Given the description of an element on the screen output the (x, y) to click on. 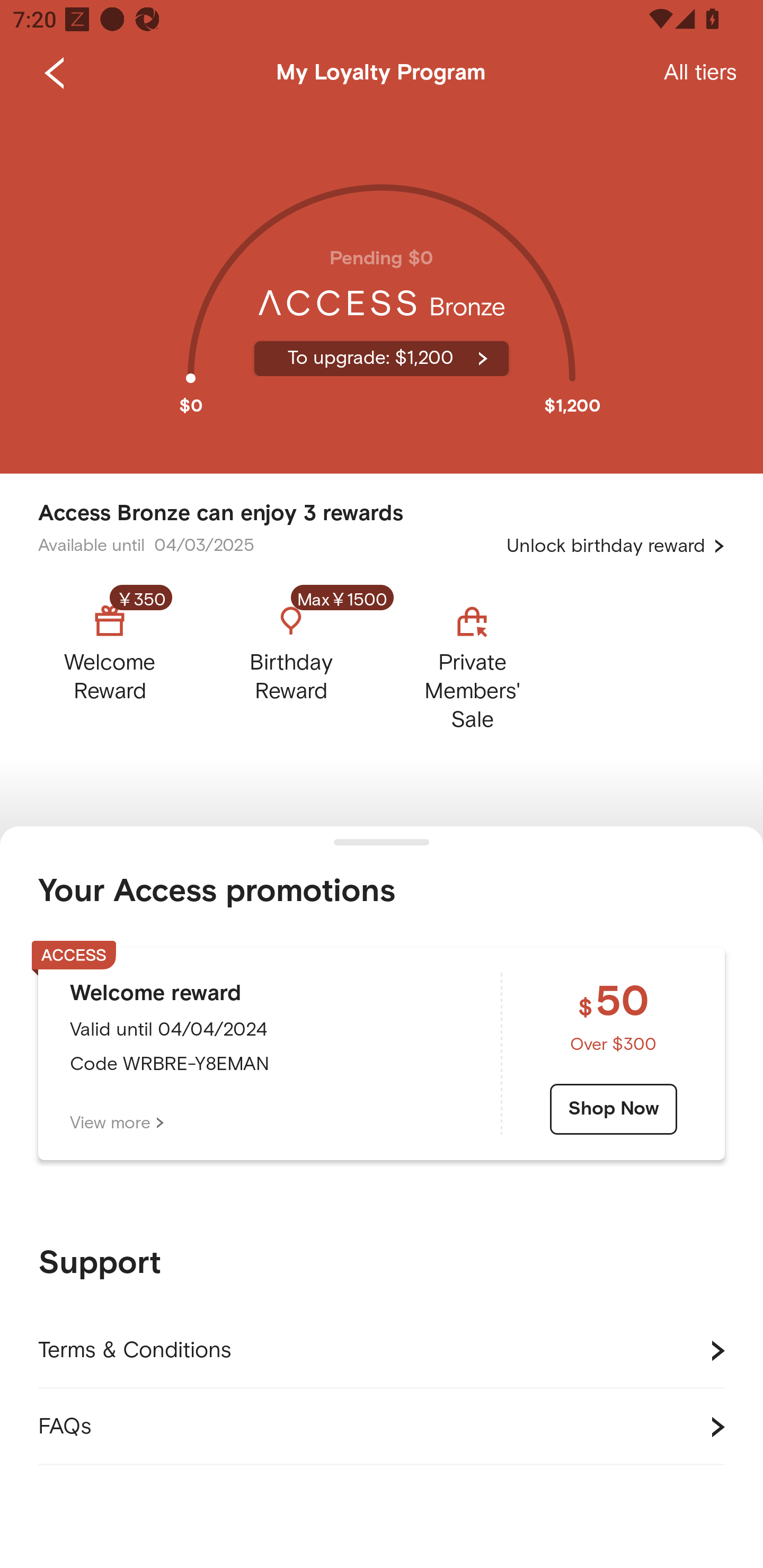
All tiers (700, 72)
Pending $0 To upgrade: $1,200 $0 $1,200 (381, 290)
Unlock birthday reward (615, 546)
￥350 Welcome Reward (125, 662)
Max￥1500 Birthday Reward (290, 662)
Private Members' Sale (471, 662)
Shop Now (613, 1109)
View more (117, 1123)
Terms & Conditions (381, 1350)
FAQs (381, 1426)
